Given the description of an element on the screen output the (x, y) to click on. 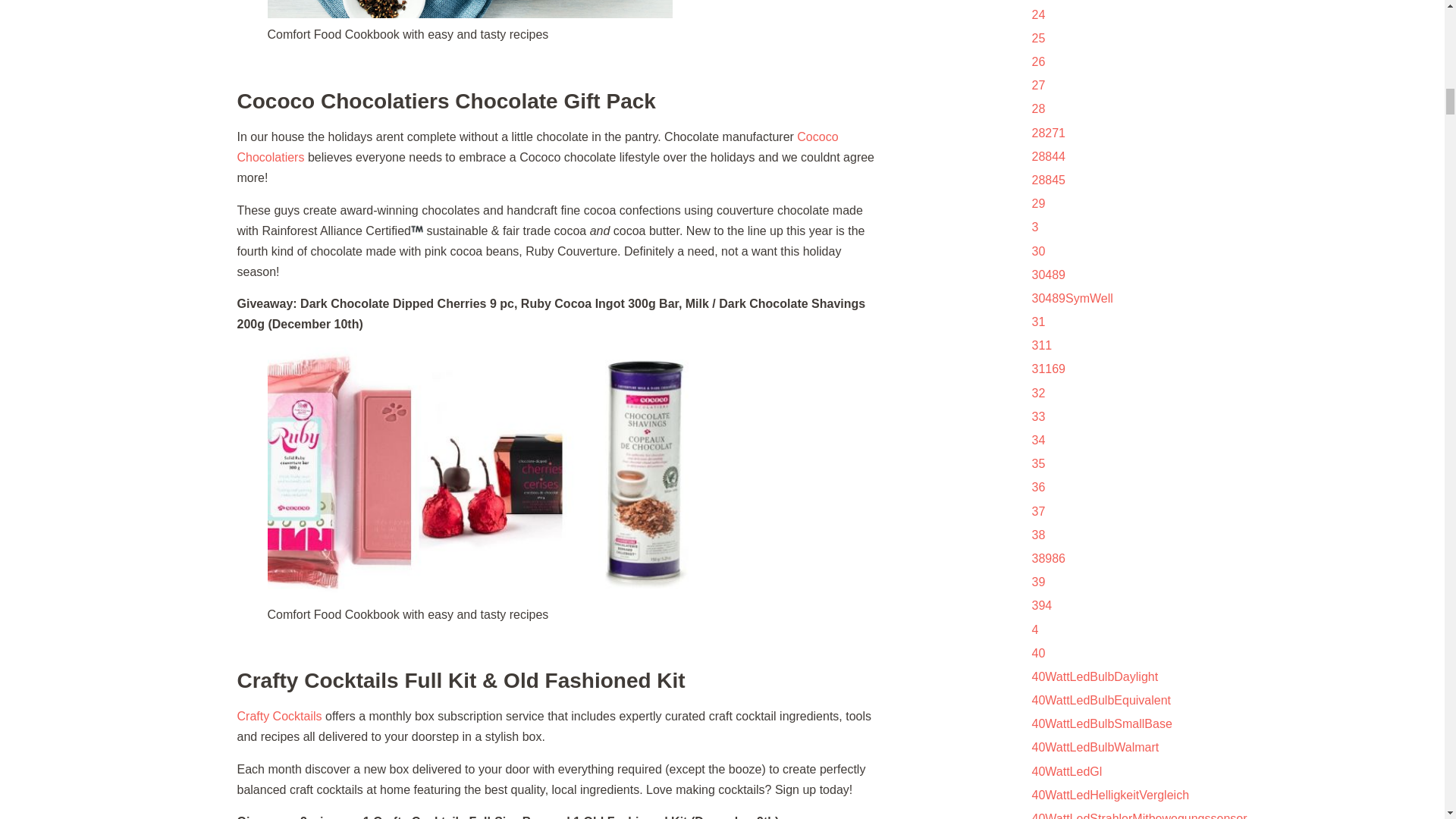
Cococo Chocolatiers (536, 146)
Crafty Cocktails (278, 716)
